Given the description of an element on the screen output the (x, y) to click on. 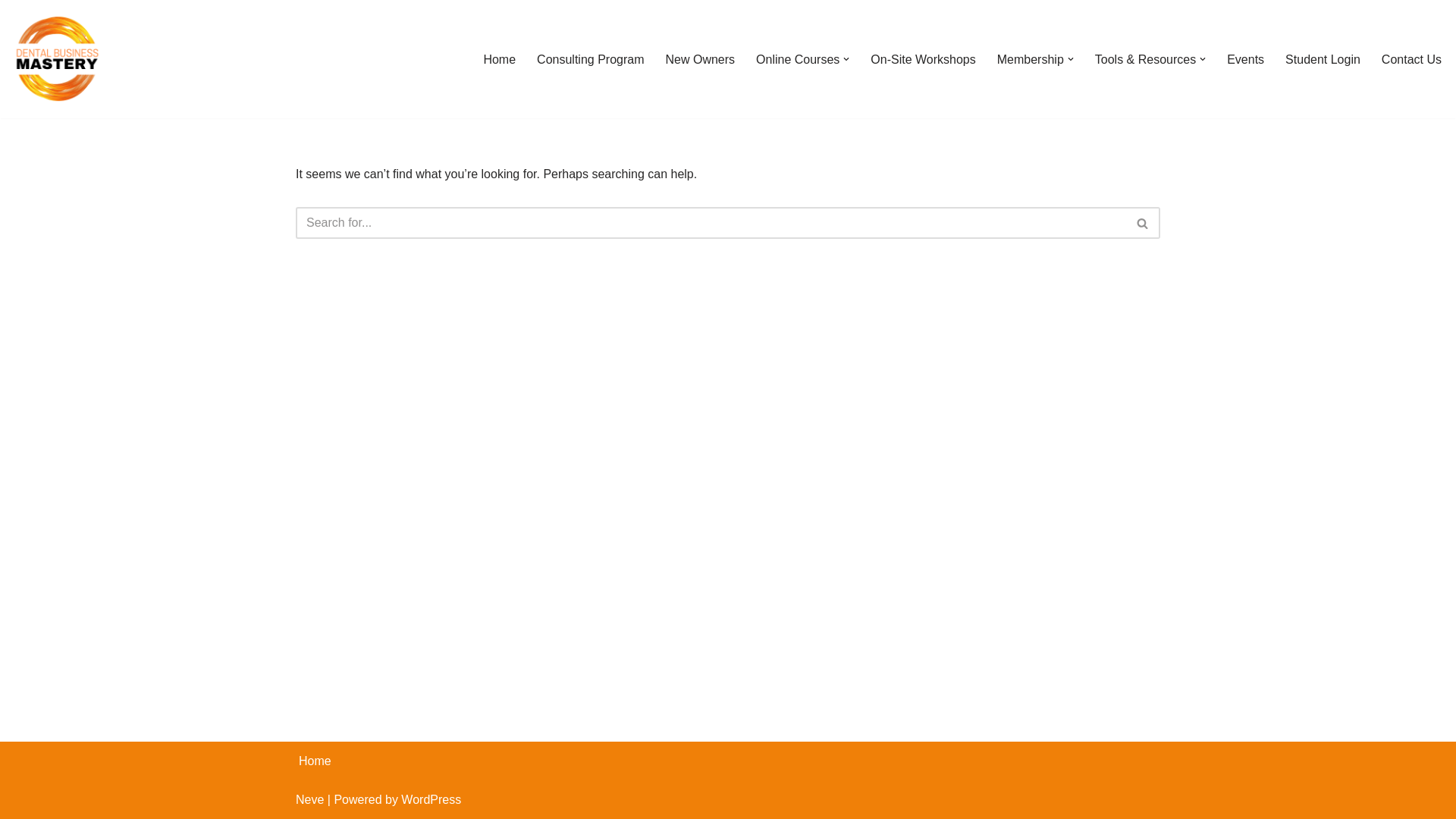
Tools & Resources Element type: text (1145, 59)
Student Login Element type: text (1322, 59)
Home Element type: text (499, 59)
Skip to content Element type: text (11, 31)
On-Site Workshops Element type: text (922, 59)
Contact Us Element type: text (1411, 59)
Home Element type: text (314, 760)
New Owners Element type: text (699, 59)
Online Courses Element type: text (797, 59)
Consulting Program Element type: text (589, 59)
WordPress Element type: text (431, 799)
Membership Element type: text (1030, 59)
Neve Element type: text (309, 799)
Events Element type: text (1245, 59)
